Given the description of an element on the screen output the (x, y) to click on. 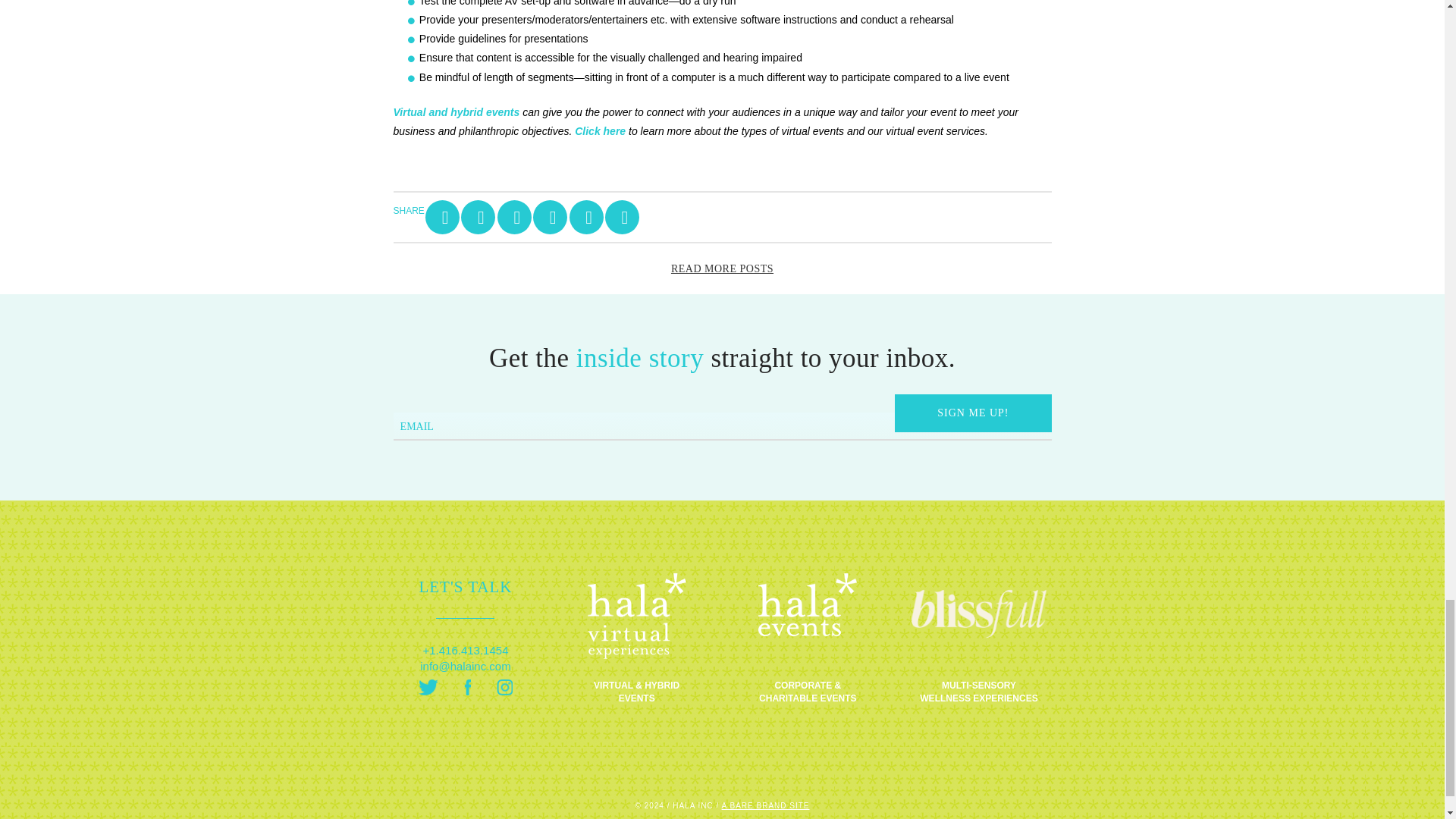
SIGN ME UP! (973, 412)
READ MORE POSTS (722, 268)
Virtual and hybrid events (456, 111)
SIGN ME UP! (973, 412)
Click here (600, 131)
